Given the description of an element on the screen output the (x, y) to click on. 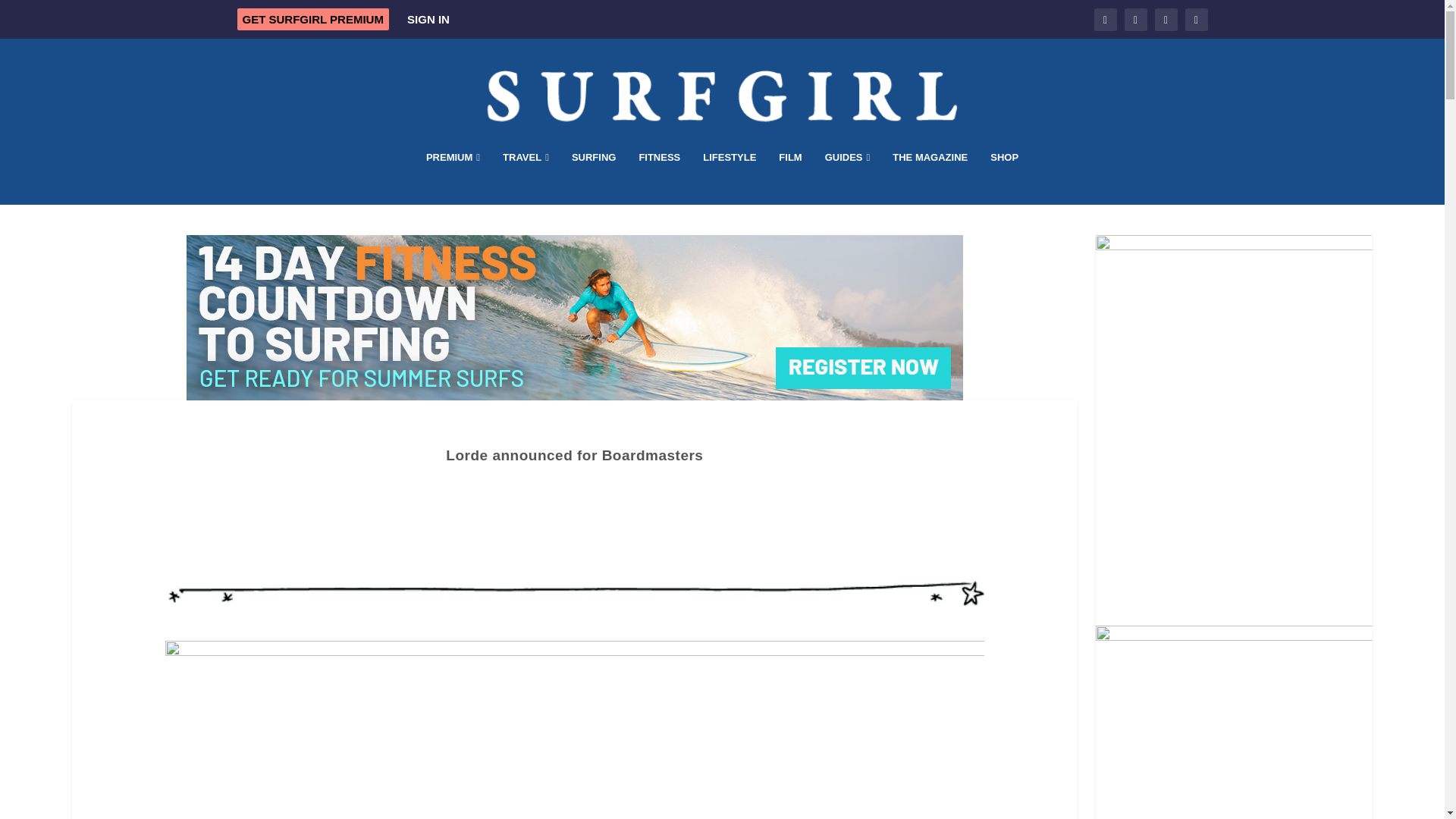
LIFESTYLE (729, 177)
GET SURFGIRL PREMIUM (311, 19)
doodle-line-star (574, 593)
SIGN IN (428, 19)
PREMIUM (453, 177)
